Given the description of an element on the screen output the (x, y) to click on. 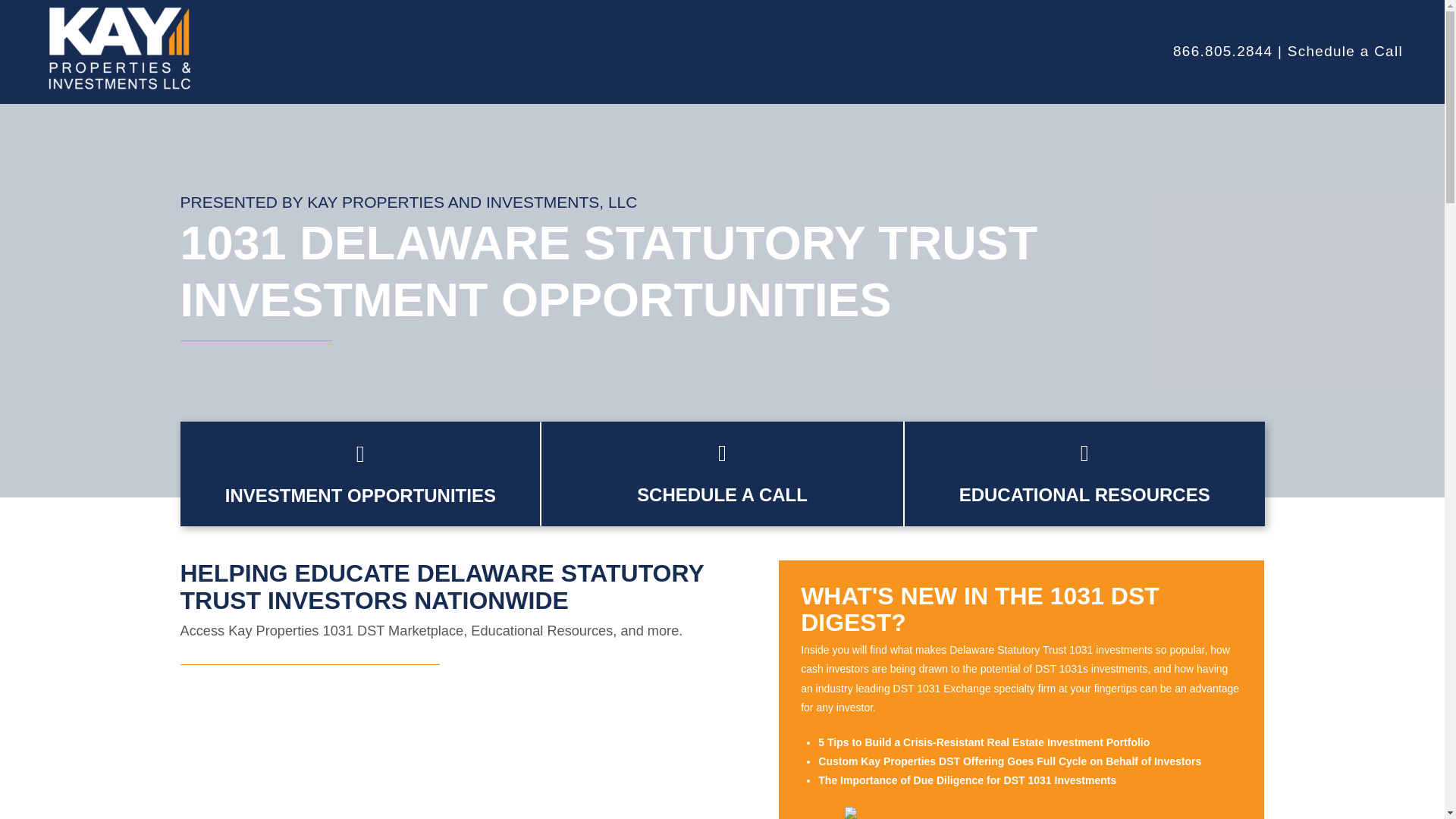
INVESTMENT OPPORTUNITIES Element type: text (360, 495)
Schedule a Call Element type: text (1344, 51)
EDUCATIONAL RESOURCES Element type: text (1084, 494)
866.805.2844 Element type: text (1222, 51)
SCHEDULE A CALL Element type: text (722, 494)
